Given the description of an element on the screen output the (x, y) to click on. 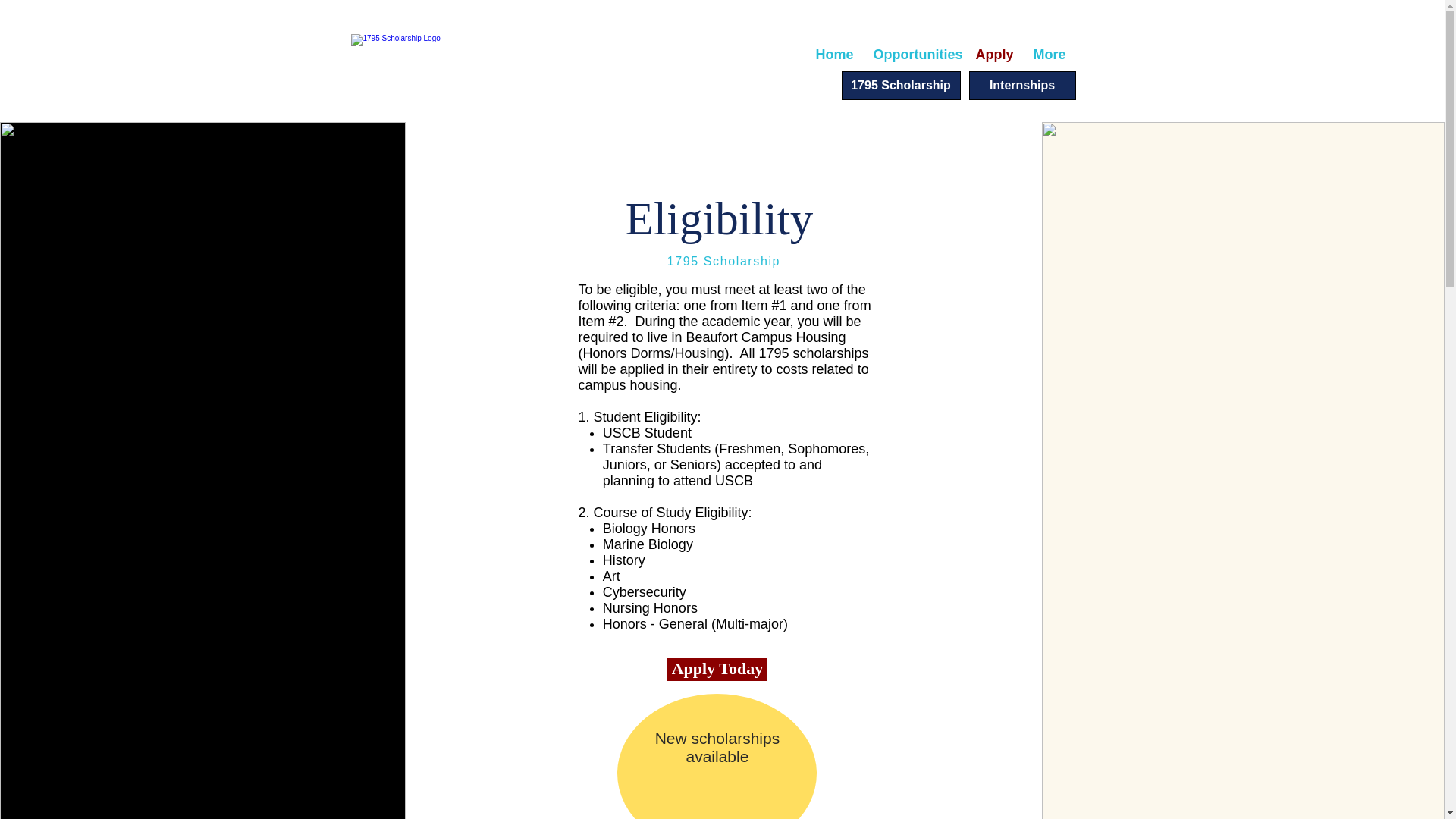
Internships (1022, 85)
Apply (992, 54)
Apply Today (716, 669)
Opportunities (912, 54)
Home (832, 54)
1795 Scholarship (900, 85)
